Given the description of an element on the screen output the (x, y) to click on. 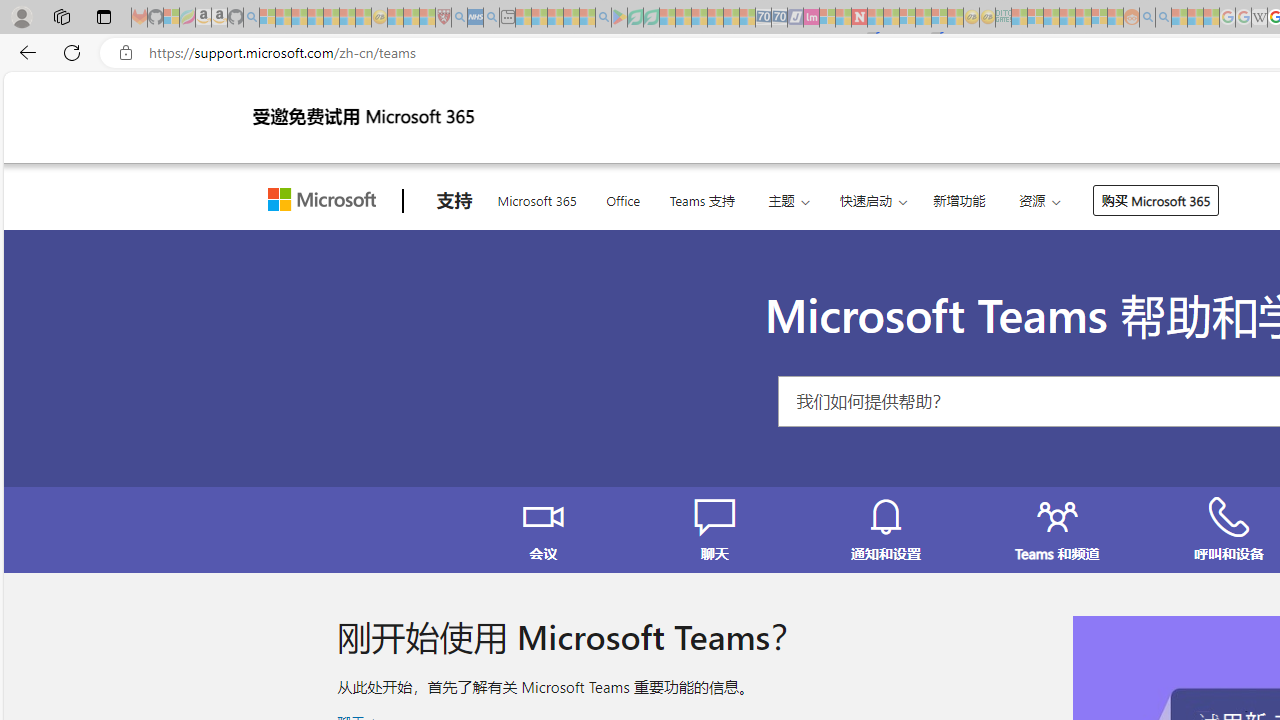
Jobs - lastminute.com Investor Portal - Sleeping (811, 17)
Office (623, 198)
Personal Profile (21, 16)
utah sues federal government - Search - Sleeping (491, 17)
Terms of Use Agreement - Sleeping (635, 17)
